Given the description of an element on the screen output the (x, y) to click on. 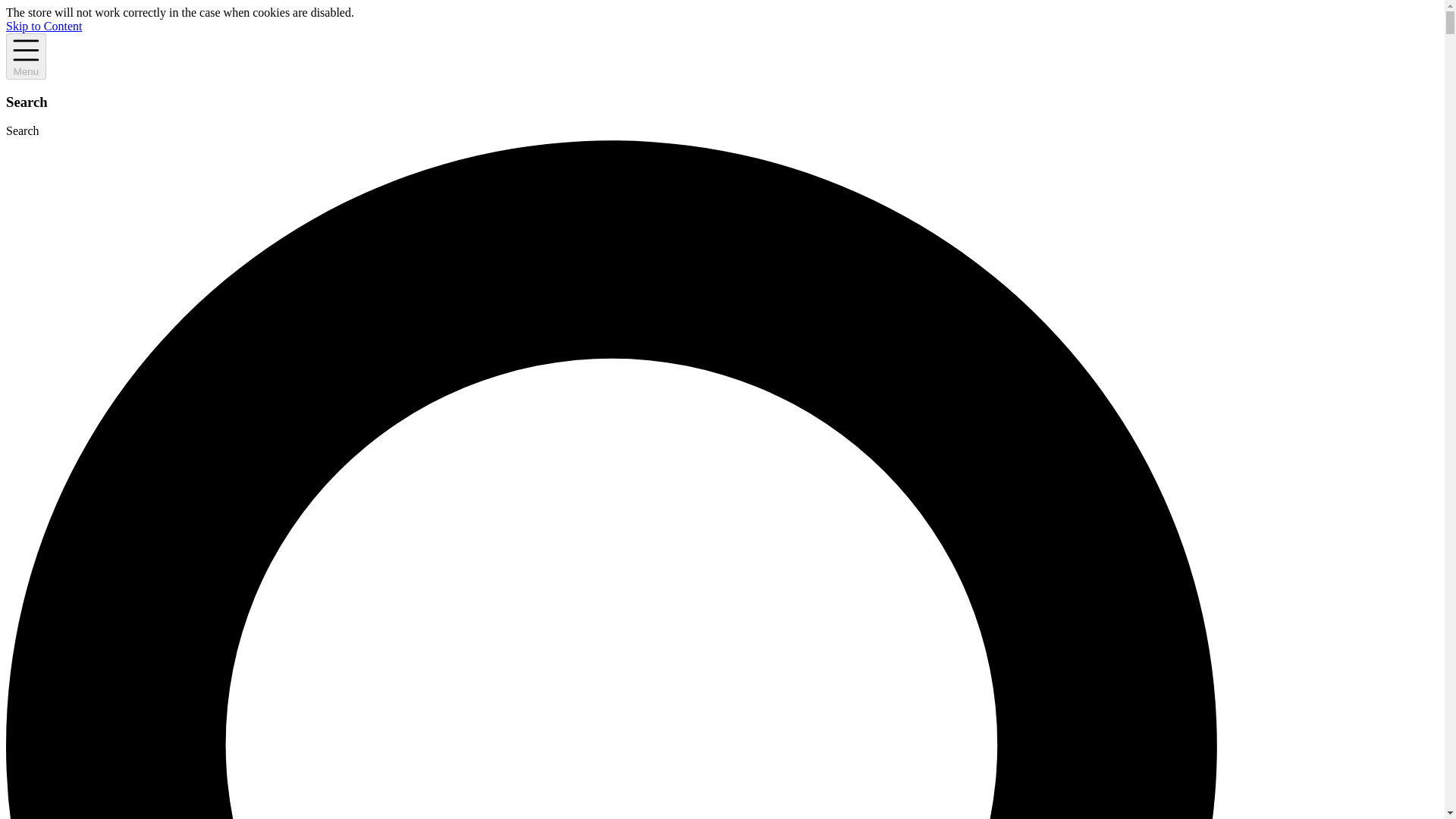
Skip to Content (43, 25)
